Given the description of an element on the screen output the (x, y) to click on. 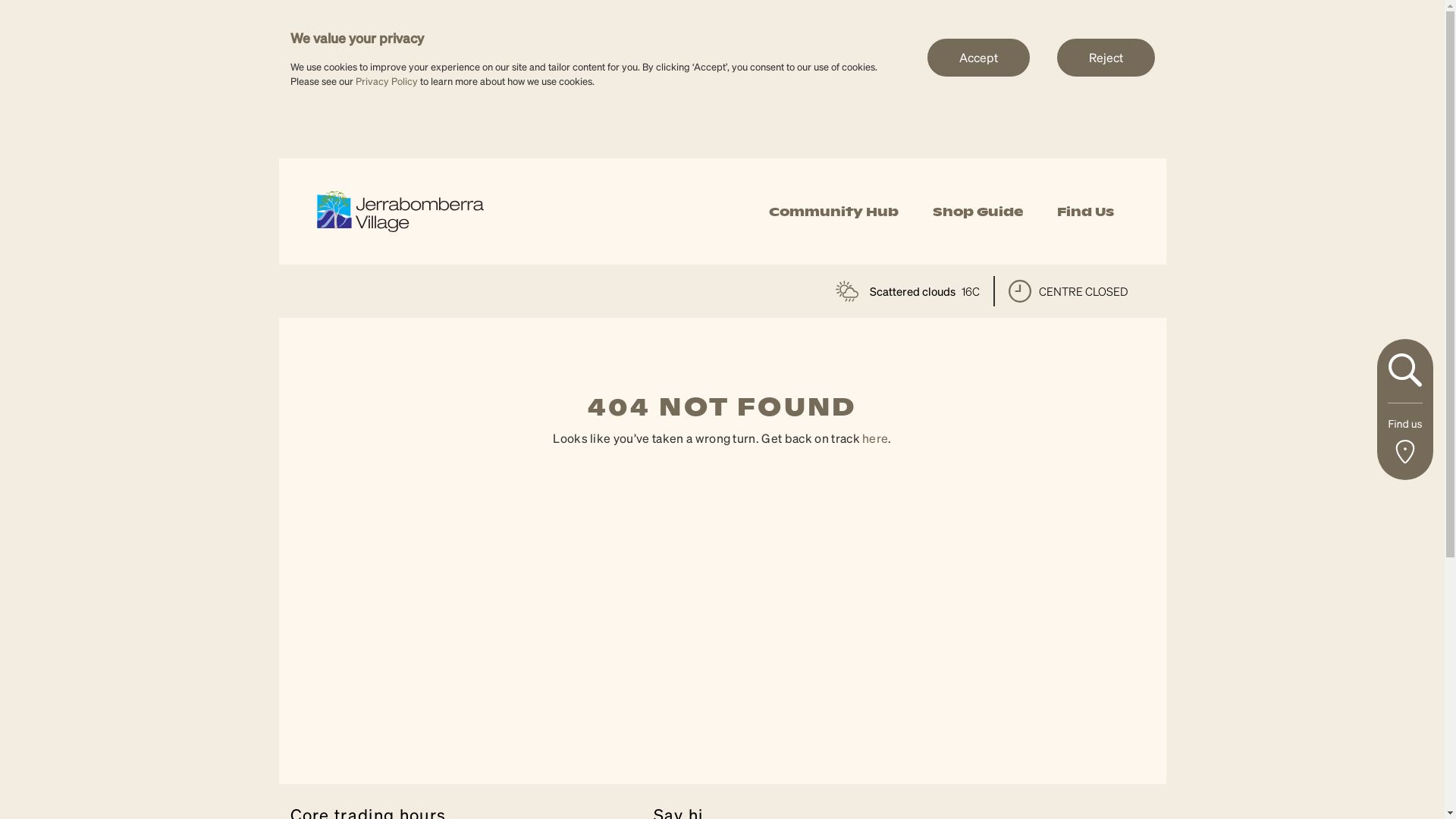
Shop Guide Element type: text (977, 211)
Community Hub Element type: text (833, 211)
Privacy Policy Element type: text (385, 80)
here Element type: text (875, 437)
time Element type: hover (1019, 290)
CENTRE CLOSED Element type: text (1068, 290)
Accept Element type: text (977, 56)
Find Us Element type: text (1085, 211)
Reject Element type: text (1105, 56)
